Given the description of an element on the screen output the (x, y) to click on. 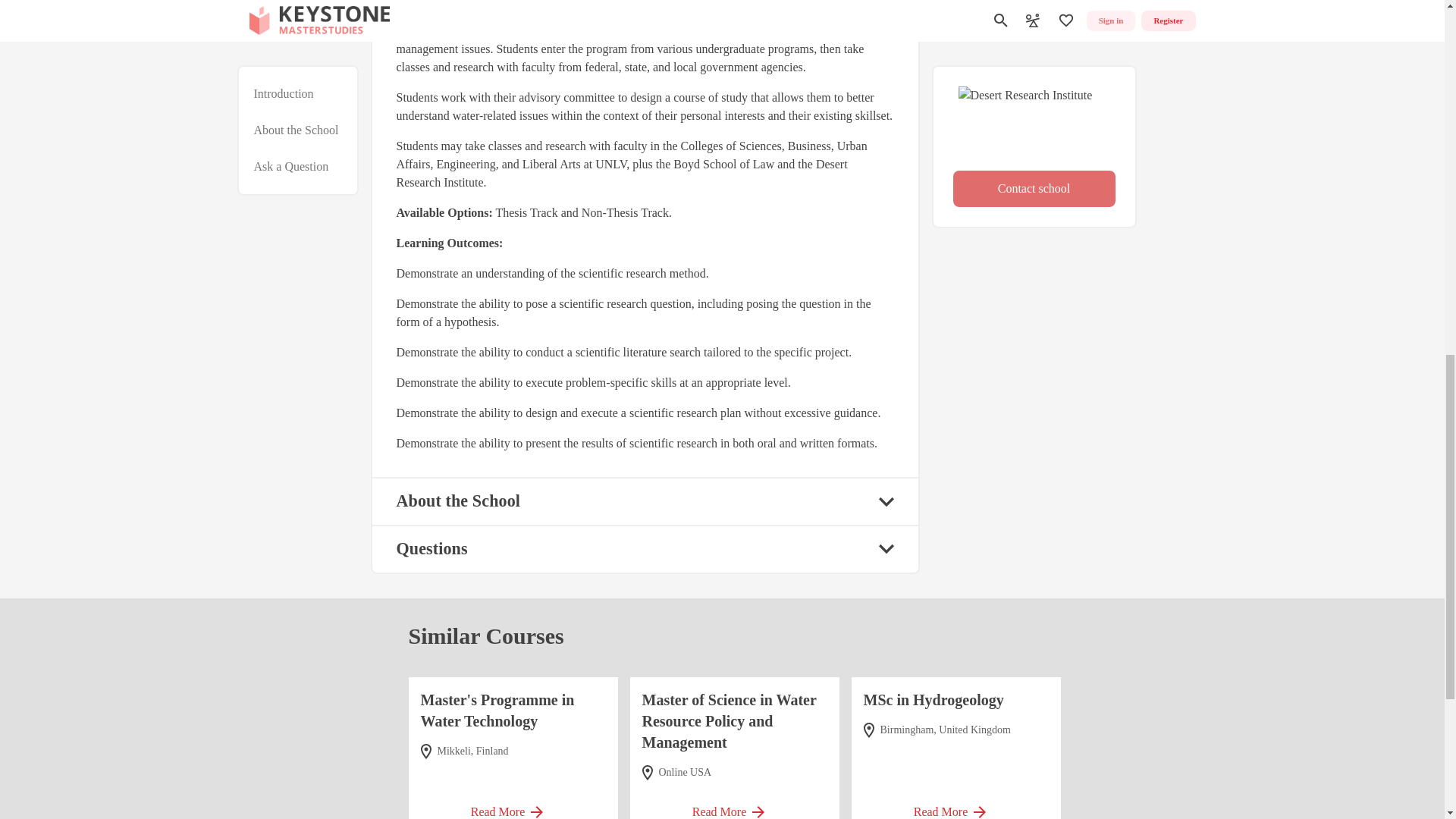
Read More (512, 805)
Read More (734, 805)
Read More (955, 805)
